Given the description of an element on the screen output the (x, y) to click on. 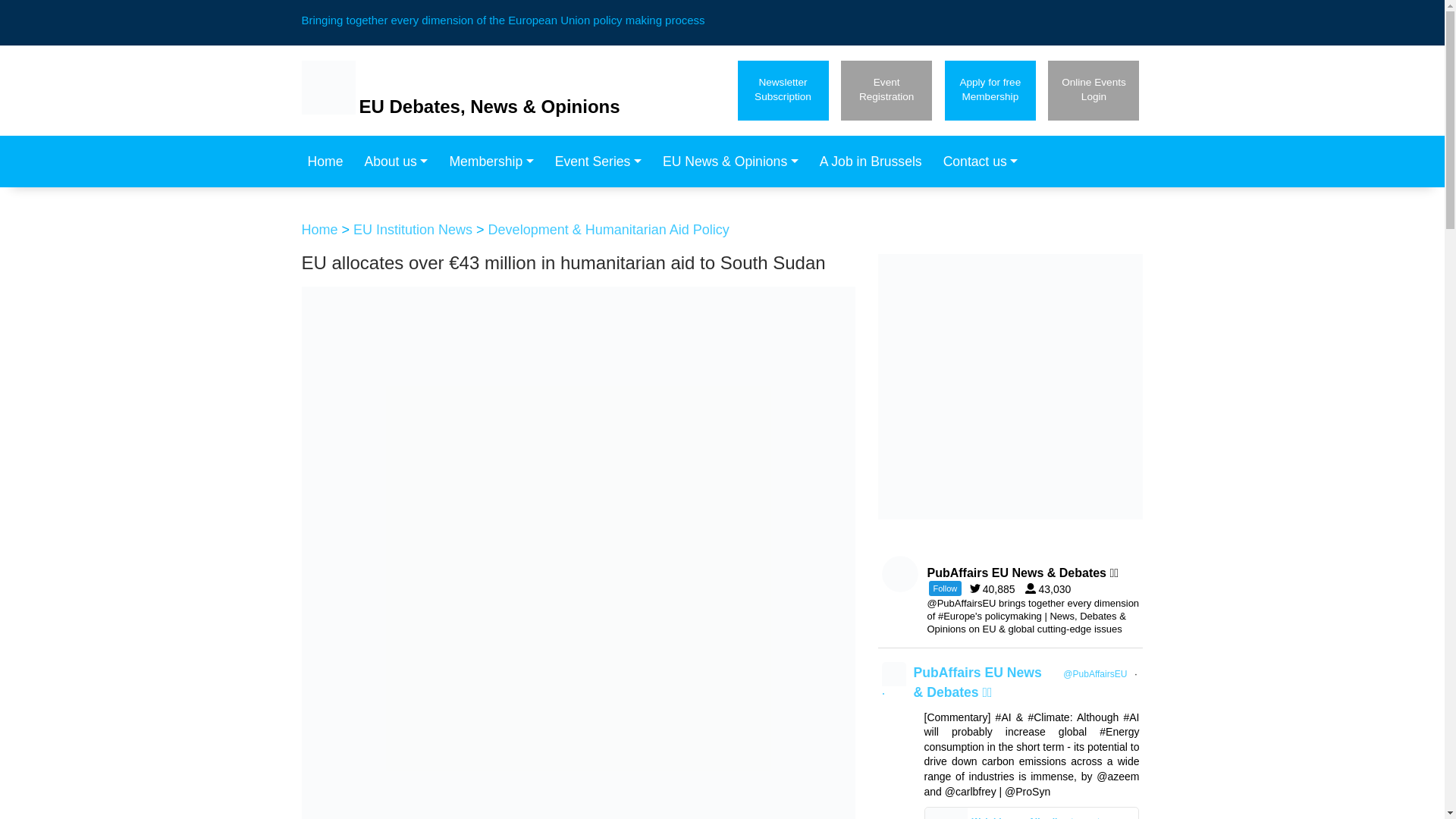
Membership (782, 90)
43,030 Followers (886, 90)
About us (989, 90)
Home (495, 161)
40,885 Tweets (1051, 589)
Event Series (400, 161)
